Given the description of an element on the screen output the (x, y) to click on. 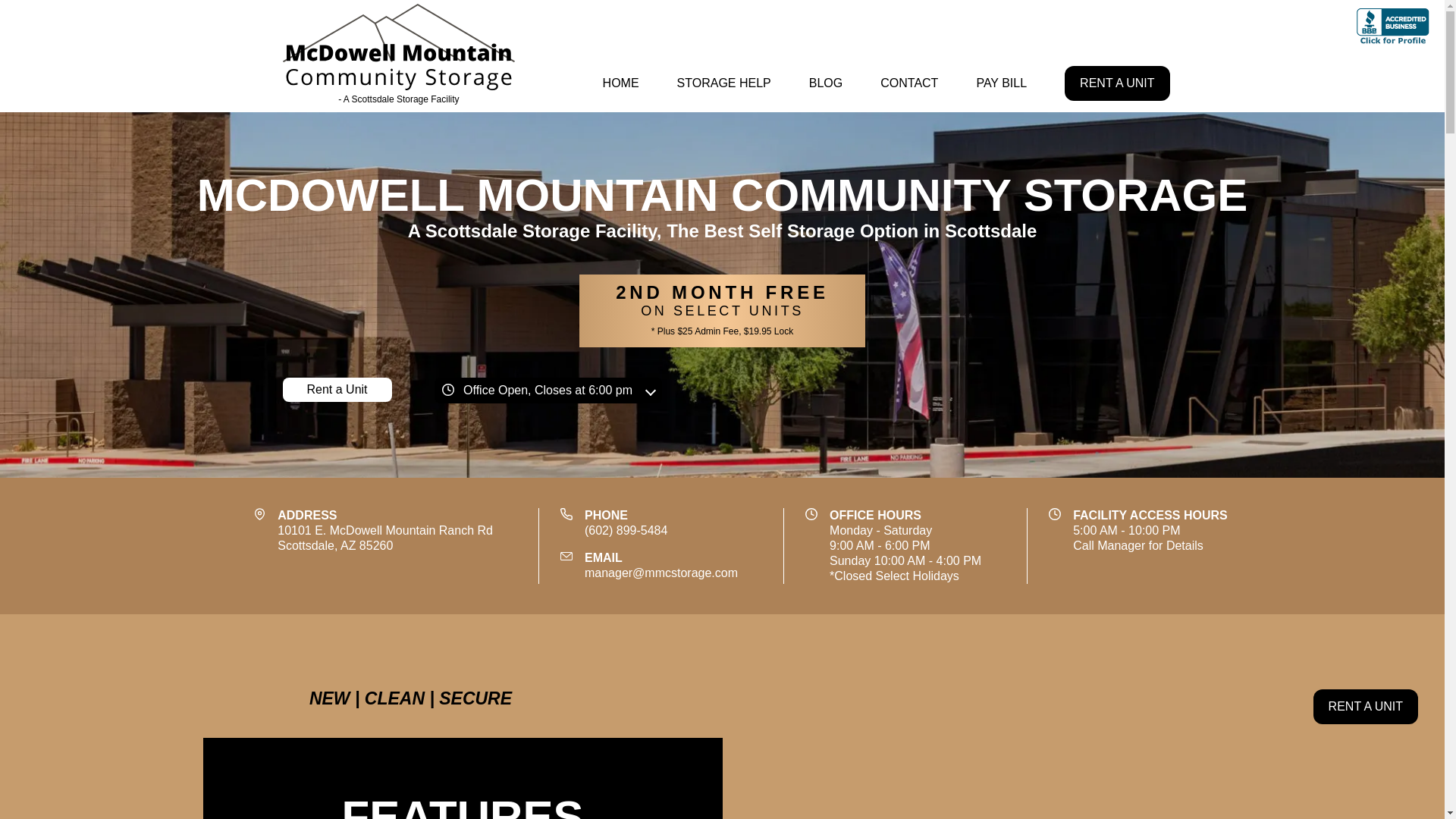
Office Open, Closes at 6:00 pm (547, 390)
HOME (385, 538)
RENT A UNIT (620, 83)
BLOG (1116, 83)
Rent a Unit (825, 83)
- A Scottsdale Storage Facility (336, 389)
RENT A UNIT (398, 56)
CONTACT (1365, 706)
PAY BILL (908, 83)
